Given the description of an element on the screen output the (x, y) to click on. 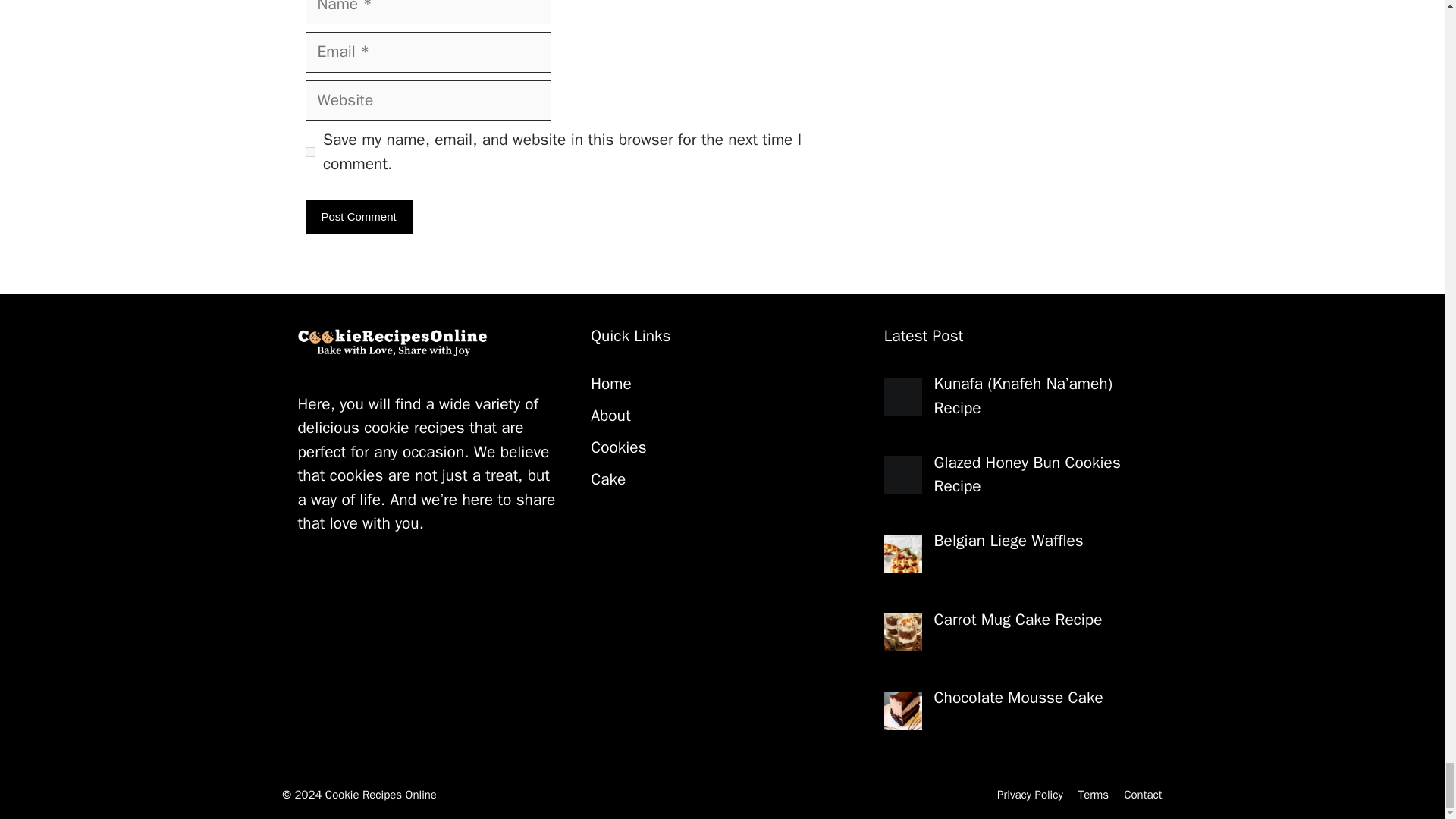
Glazed Honey Bun Cookies Recipe (1027, 474)
Cake (608, 478)
yes (309, 152)
Belgian Liege Waffles (1008, 540)
Privacy Policy (1029, 794)
Carrot Mug Cake Recipe (1018, 619)
Cookies (618, 447)
Home (611, 383)
About (610, 415)
Post Comment (358, 216)
